Given the description of an element on the screen output the (x, y) to click on. 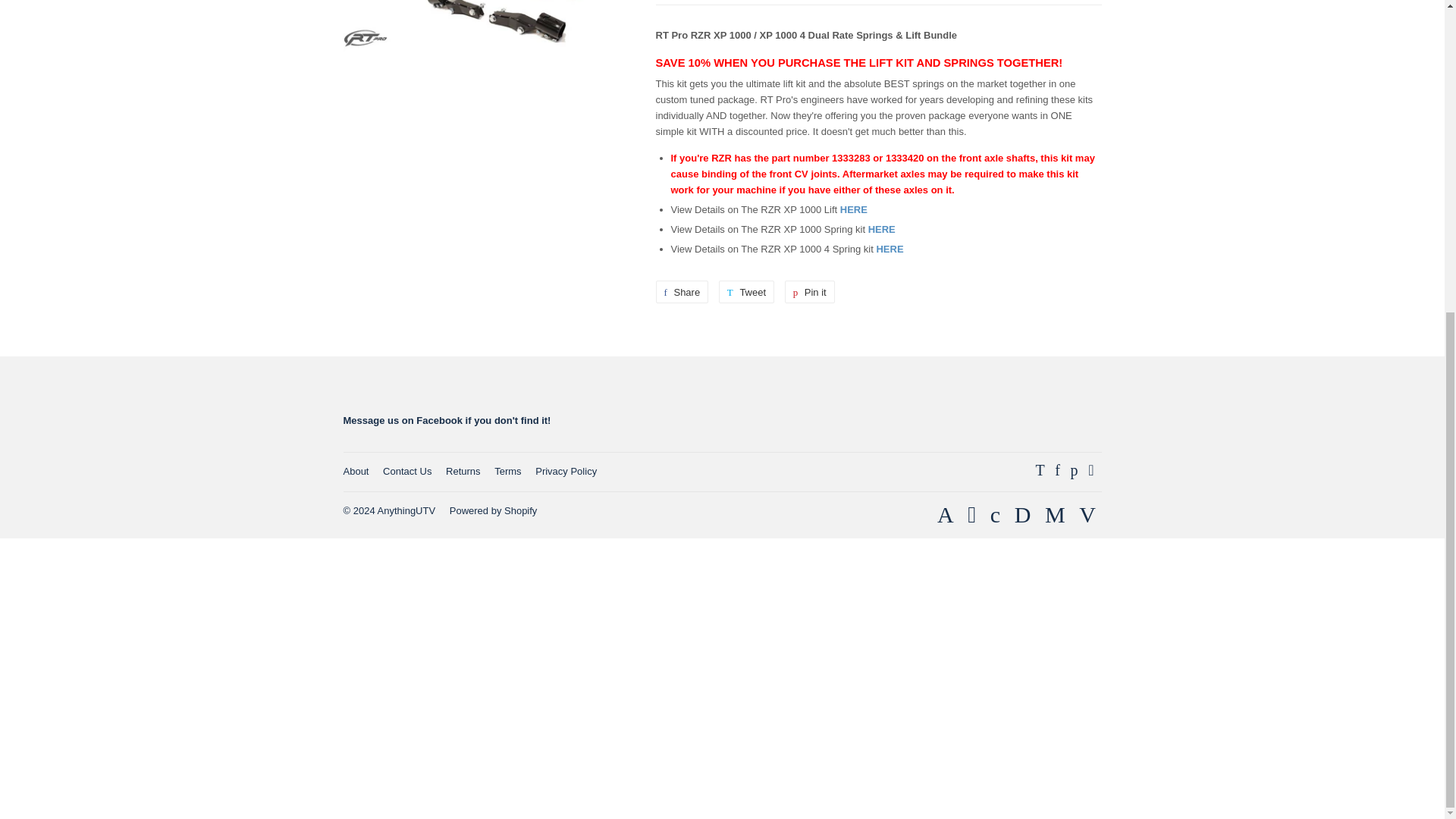
Tweet on Twitter (746, 291)
Pin on Pinterest (809, 291)
Share on Facebook (681, 291)
